Given the description of an element on the screen output the (x, y) to click on. 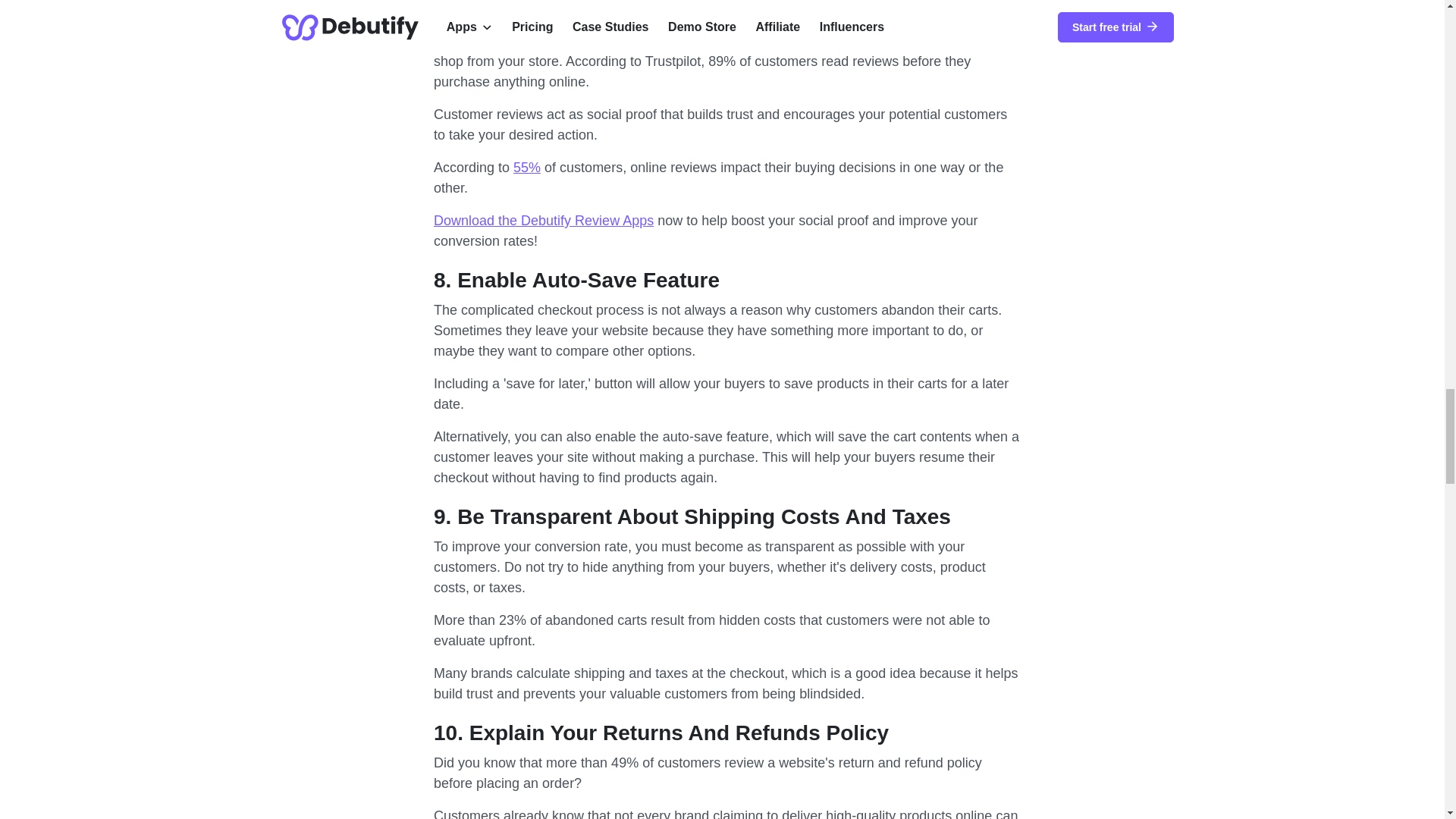
Download the Debutify Review Apps (543, 220)
